Given the description of an element on the screen output the (x, y) to click on. 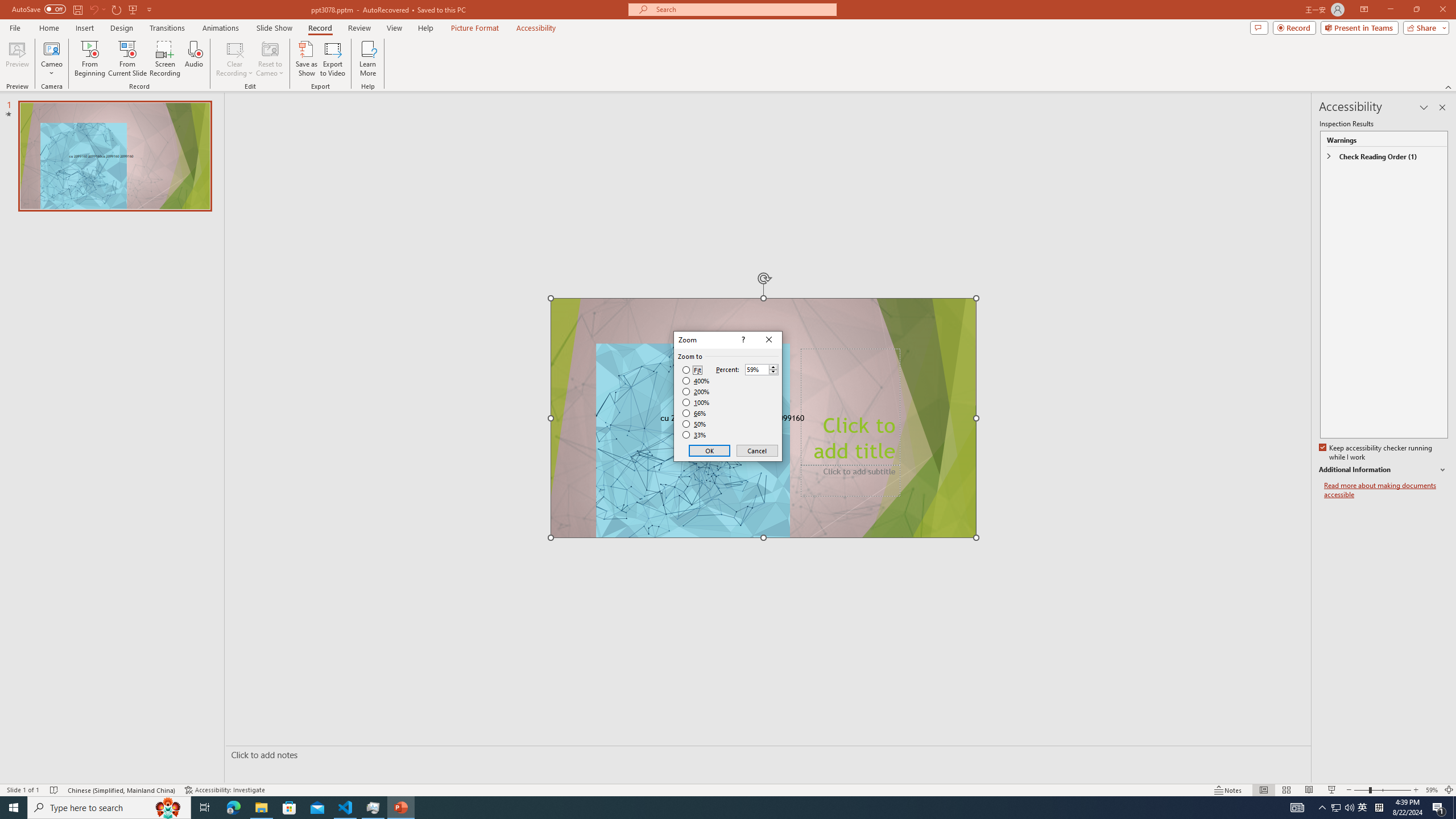
Cameo (51, 58)
Export to Video (332, 58)
From Beginning... (1335, 807)
Additional Information (89, 58)
200% (1383, 469)
Audio (696, 391)
